Given the description of an element on the screen output the (x, y) to click on. 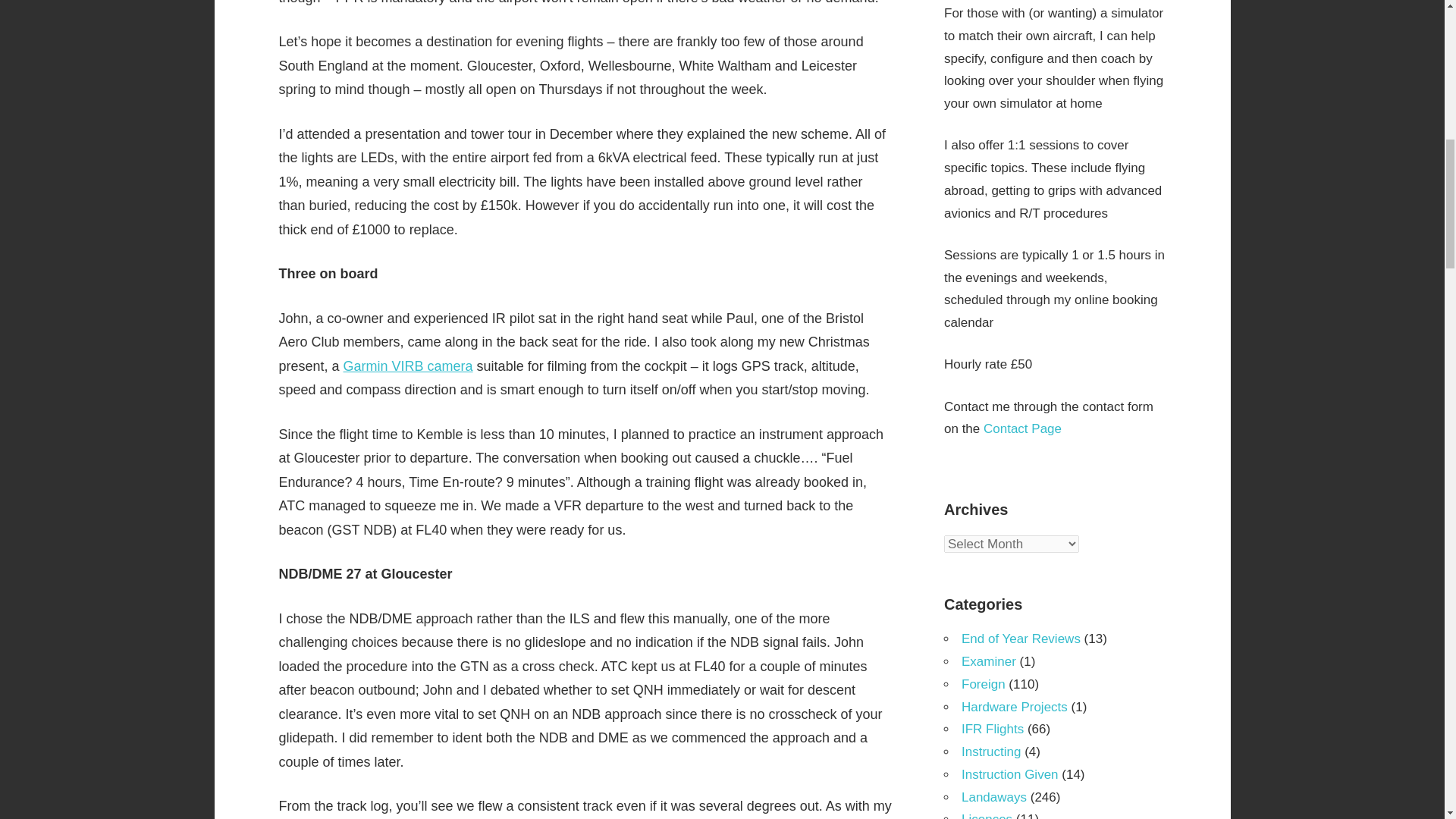
Hardware Projects (1013, 707)
Instruction Given (1009, 774)
Foreign (983, 684)
Landaways (993, 797)
Licences (985, 815)
Examiner (988, 661)
End of Year Reviews (1020, 638)
Instructing (990, 751)
Contact Page (1022, 428)
Garmin VIRB camera (408, 365)
